Given the description of an element on the screen output the (x, y) to click on. 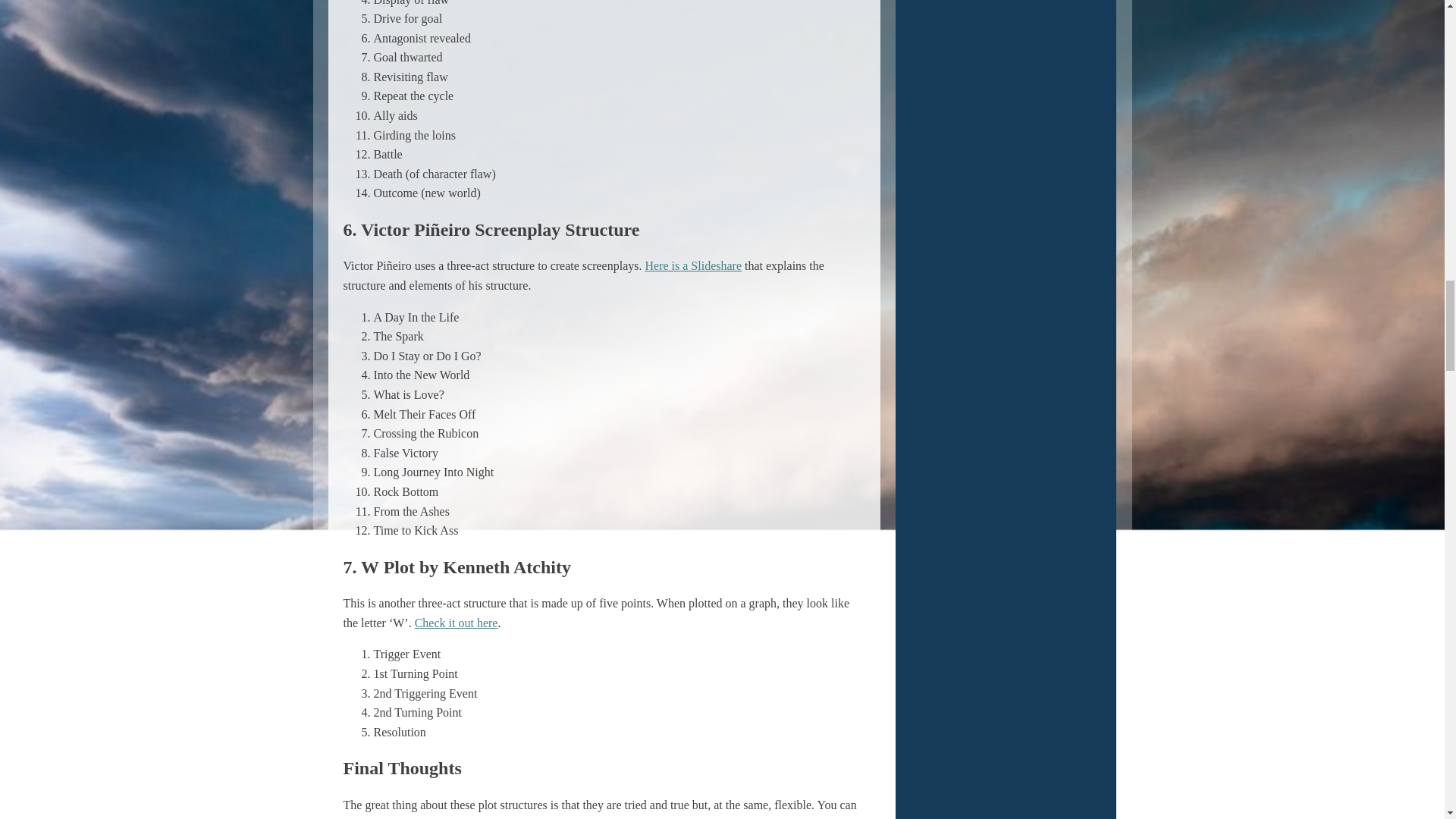
Check it out here (455, 622)
Here is a Slideshare (693, 265)
